Given the description of an element on the screen output the (x, y) to click on. 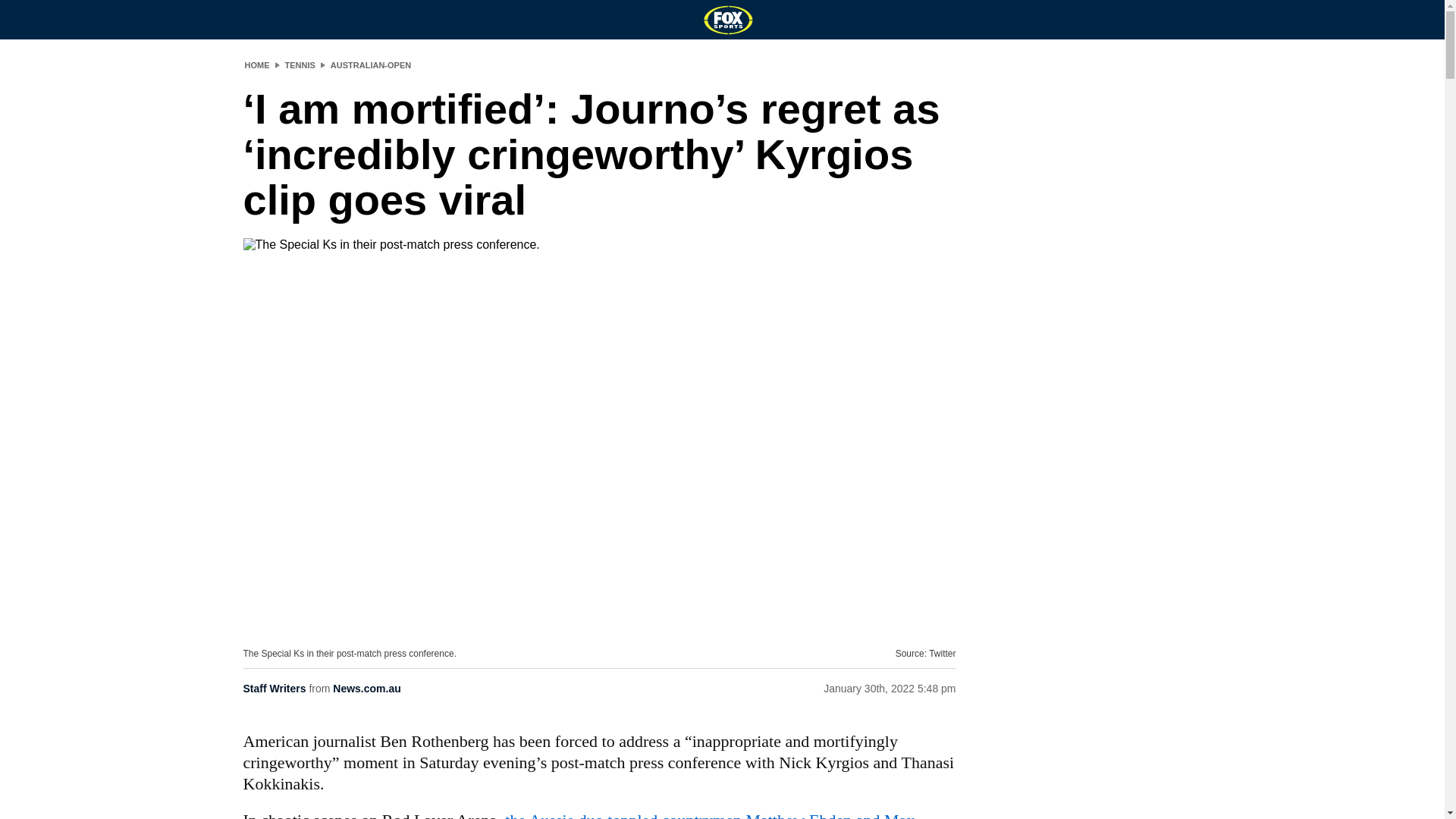
AUSTRALIAN-OPEN (370, 64)
TENNIS (300, 64)
HOME (256, 64)
